Given the description of an element on the screen output the (x, y) to click on. 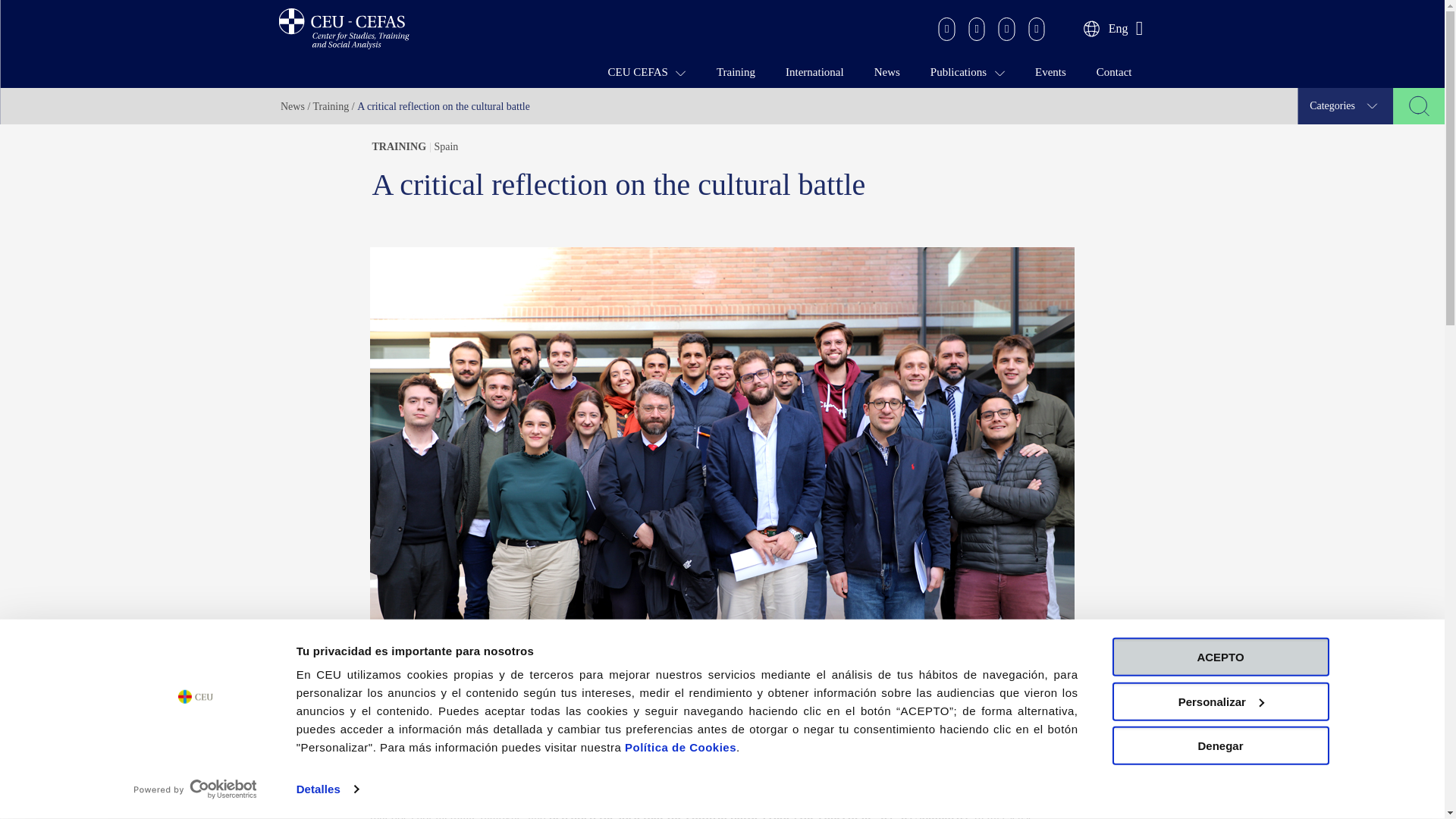
Eng (722, 28)
Detalles (327, 789)
